Given the description of an element on the screen output the (x, y) to click on. 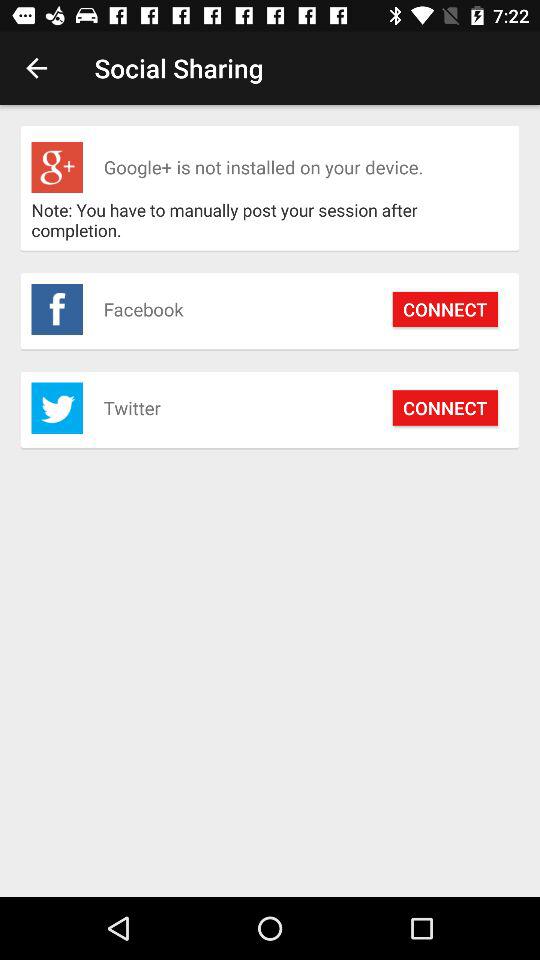
tap app to the left of the social sharing app (36, 68)
